Given the description of an element on the screen output the (x, y) to click on. 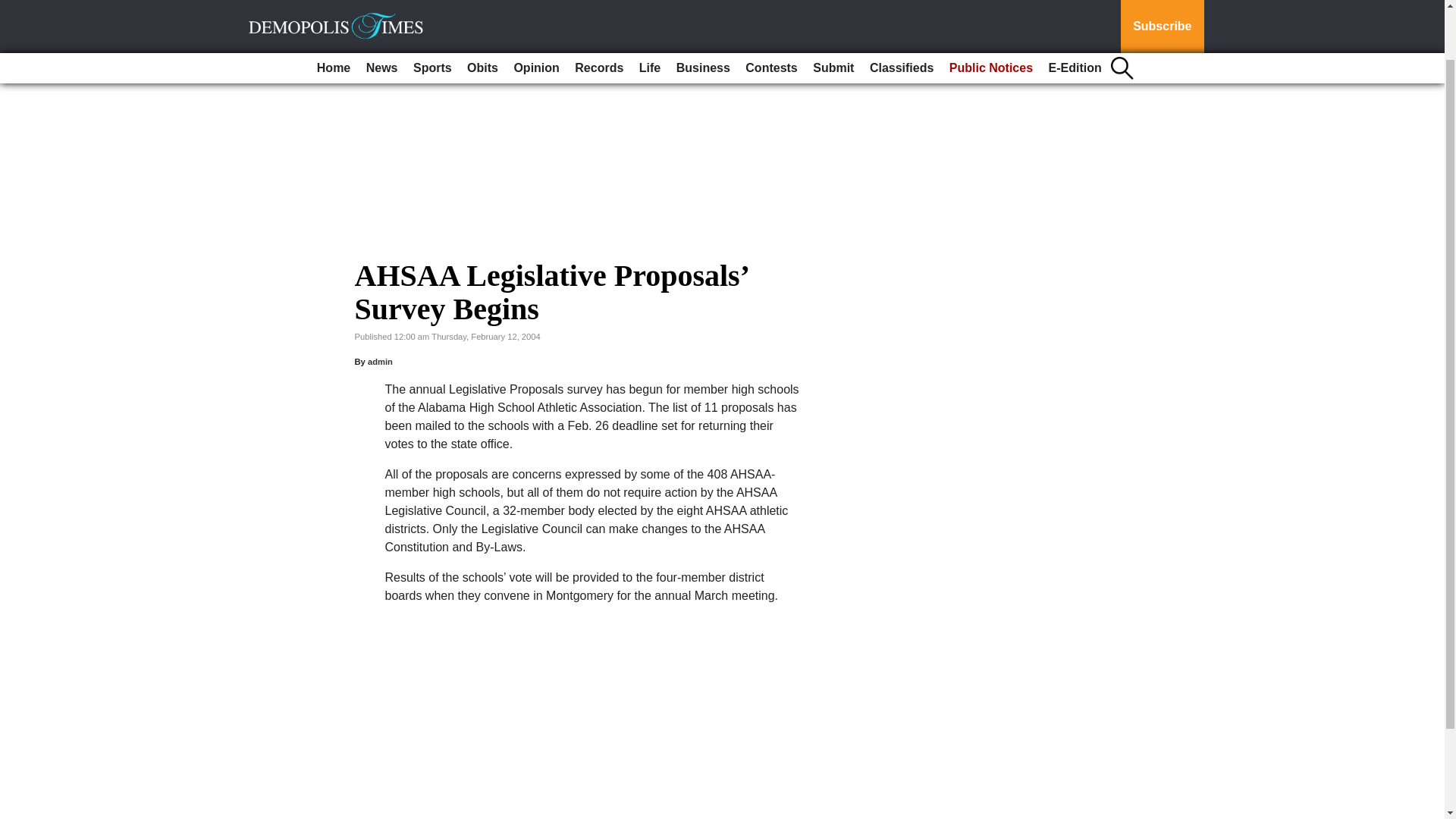
Obits (482, 11)
Contests (771, 11)
News (381, 11)
admin (380, 361)
Business (702, 11)
Records (598, 11)
Public Notices (991, 11)
Submit (833, 11)
Life (649, 11)
Sports (432, 11)
Home (333, 11)
E-Edition (1075, 11)
Opinion (535, 11)
Classifieds (901, 11)
